Given the description of an element on the screen output the (x, y) to click on. 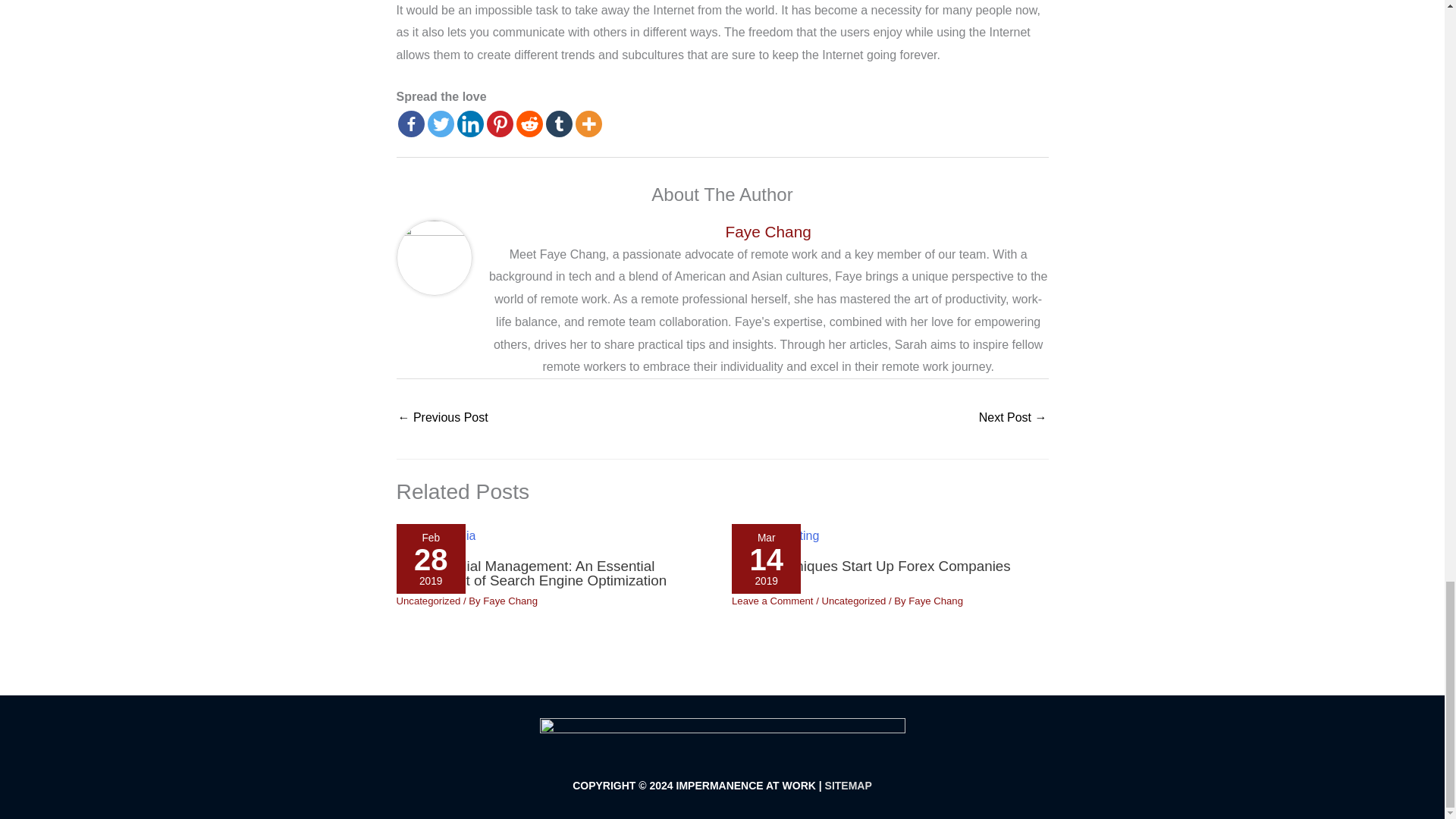
These are the Most Engaging Video Types (442, 418)
Faye Chang (935, 600)
Linkedin (470, 123)
Faye Chang (767, 231)
More (588, 123)
Faye Chang (510, 600)
Uncategorized (853, 600)
Uncategorized (428, 600)
SITEMAP (848, 785)
Reddit (528, 123)
Facebook (410, 123)
Twitter (441, 123)
Tumblr (559, 123)
Pinterest (499, 123)
SEO Techniques Start Up Forex Companies Should Try (871, 572)
